Given the description of an element on the screen output the (x, y) to click on. 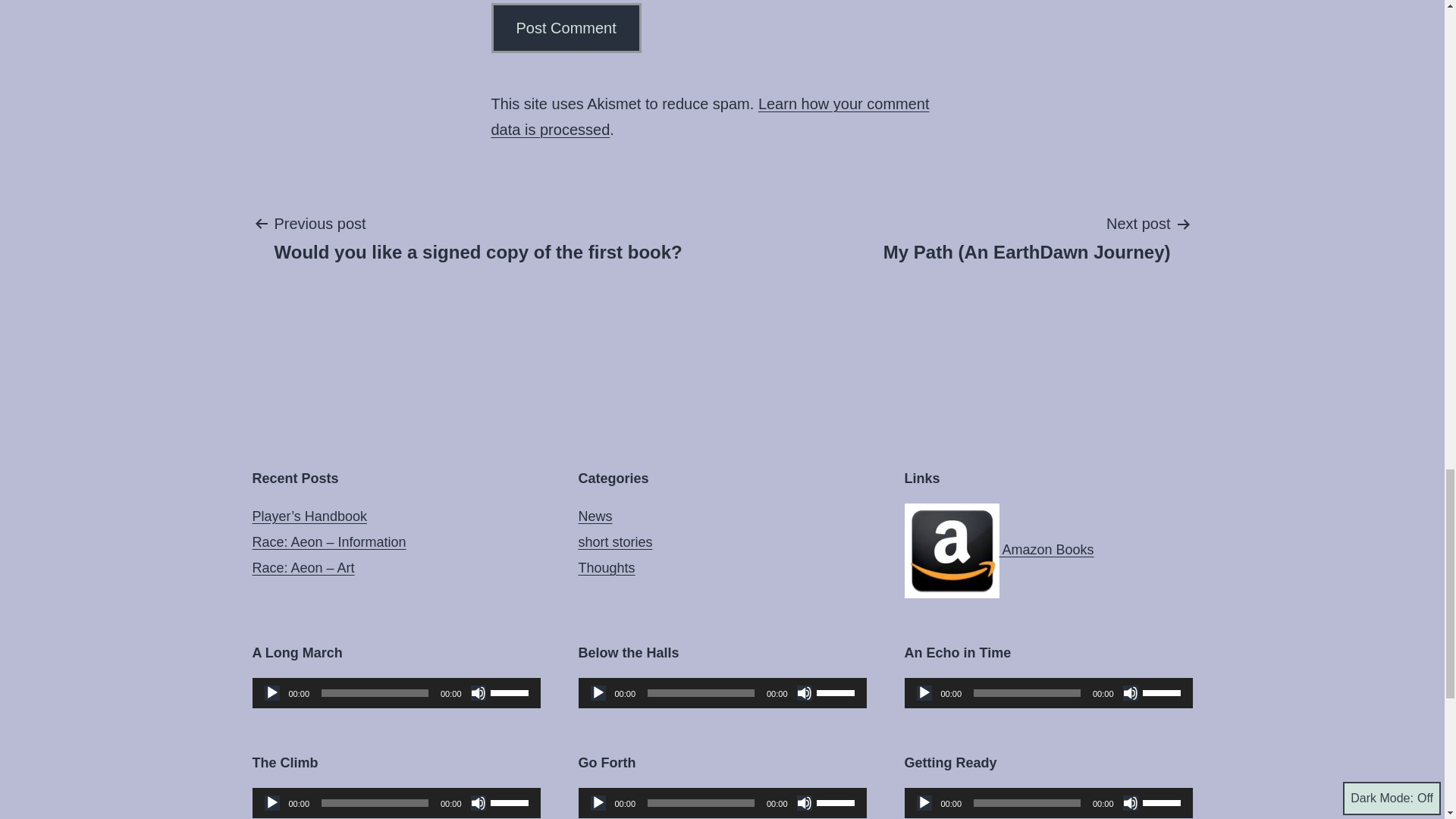
Post Comment (567, 28)
Mute (803, 693)
Mute (477, 693)
Play (271, 802)
Play (923, 802)
Learn how your comment data is processed (711, 116)
Post Comment (567, 28)
Play (923, 693)
Amazon Books (998, 549)
